Given the description of an element on the screen output the (x, y) to click on. 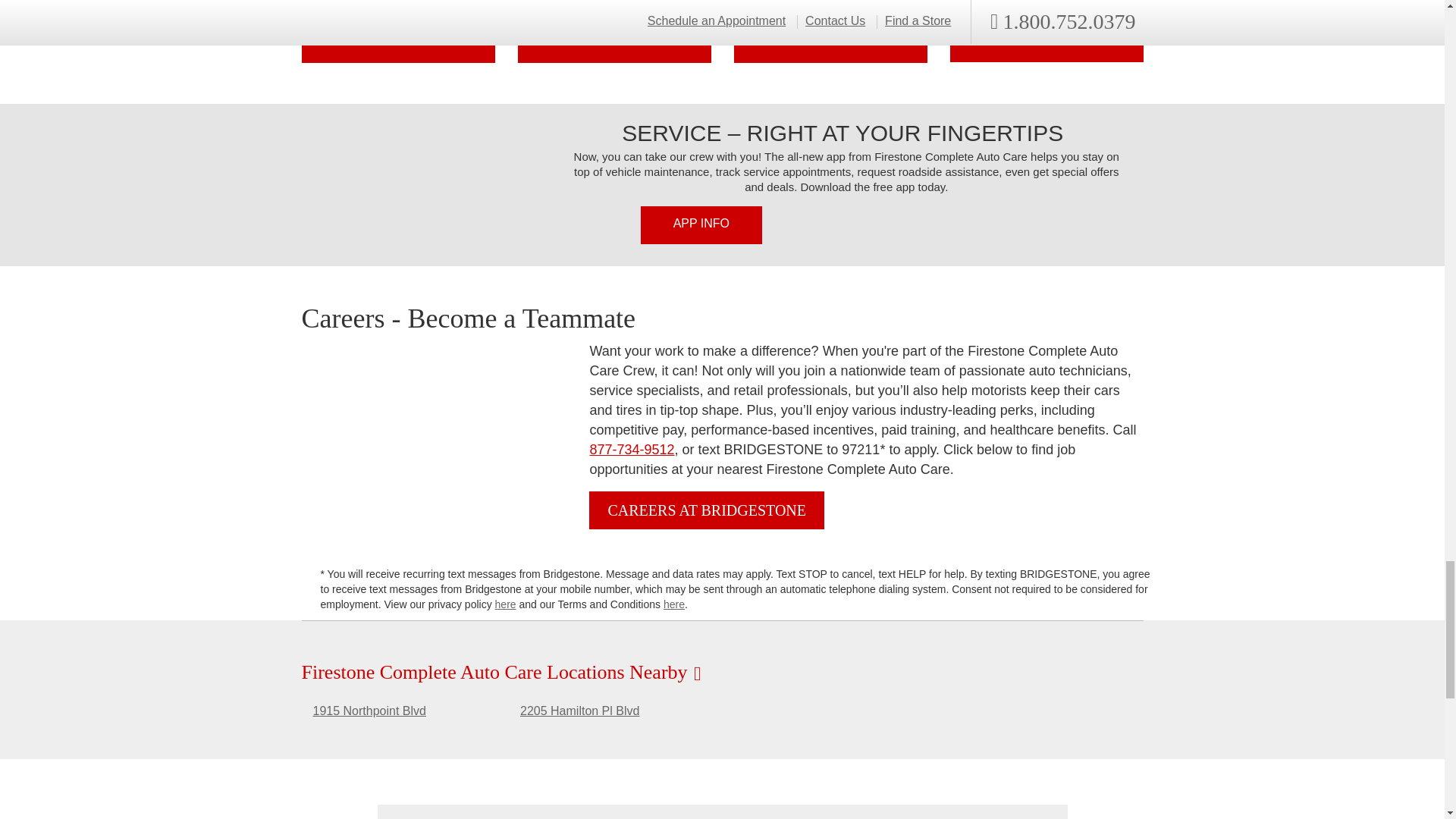
BRAKES (398, 31)
OIL CHANGE (830, 31)
INSPECTION (613, 31)
